Given the description of an element on the screen output the (x, y) to click on. 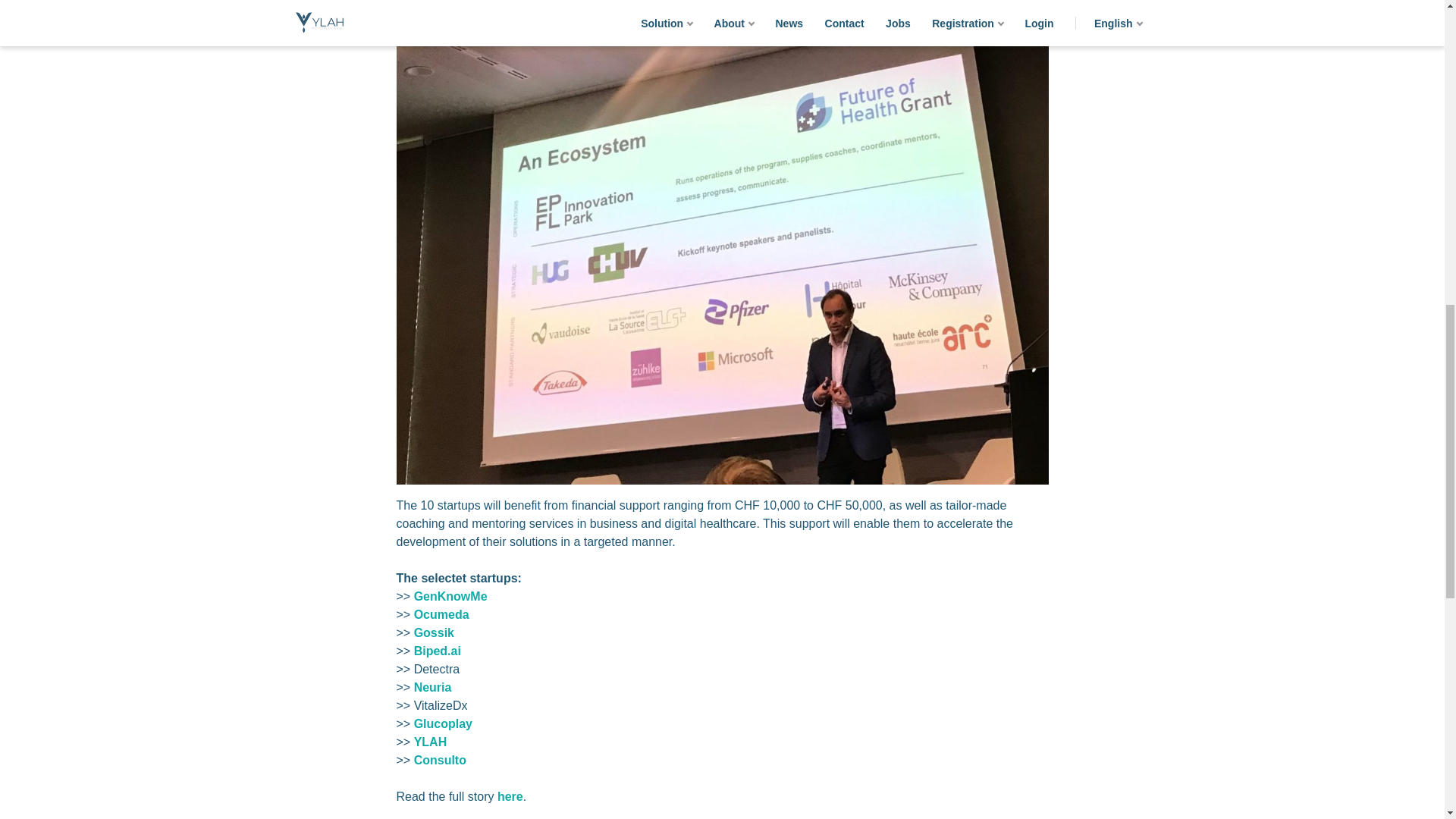
Consulto (439, 759)
Glucoplay (442, 723)
Ocumeda (440, 614)
Neuria (432, 686)
GenKnowMe (450, 595)
YLAH (429, 741)
Gossik (433, 632)
Biped.ai (437, 650)
here (509, 796)
